Given the description of an element on the screen output the (x, y) to click on. 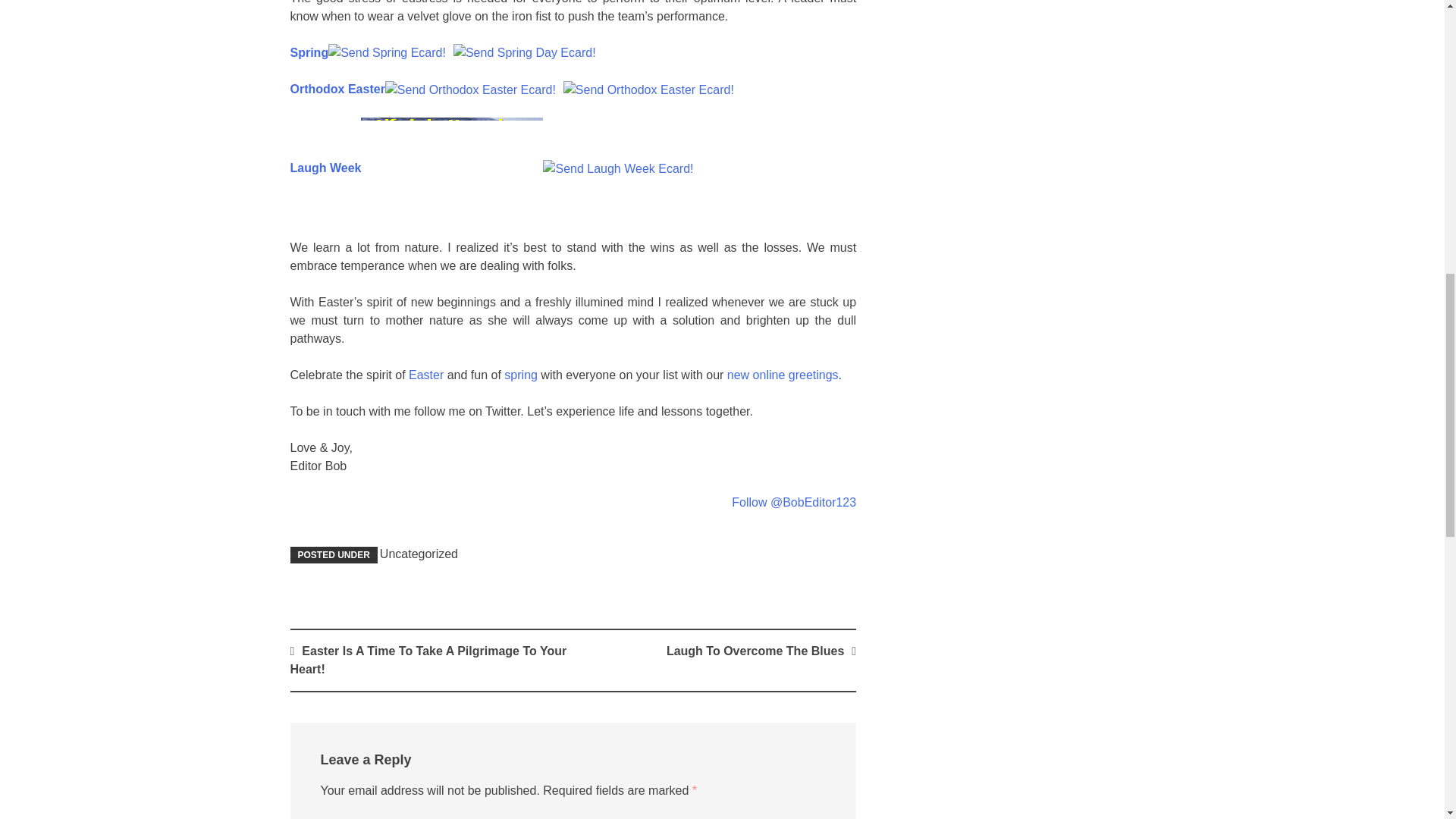
Easter (427, 374)
Laugh To Overcome The Blues (755, 650)
Easter Is A Time To Take A Pilgrimage To Your Heart! (427, 659)
Spring (309, 51)
spring (520, 374)
Laugh Week (325, 167)
Orthodox Easter (336, 88)
new online greetings (782, 374)
